Given the description of an element on the screen output the (x, y) to click on. 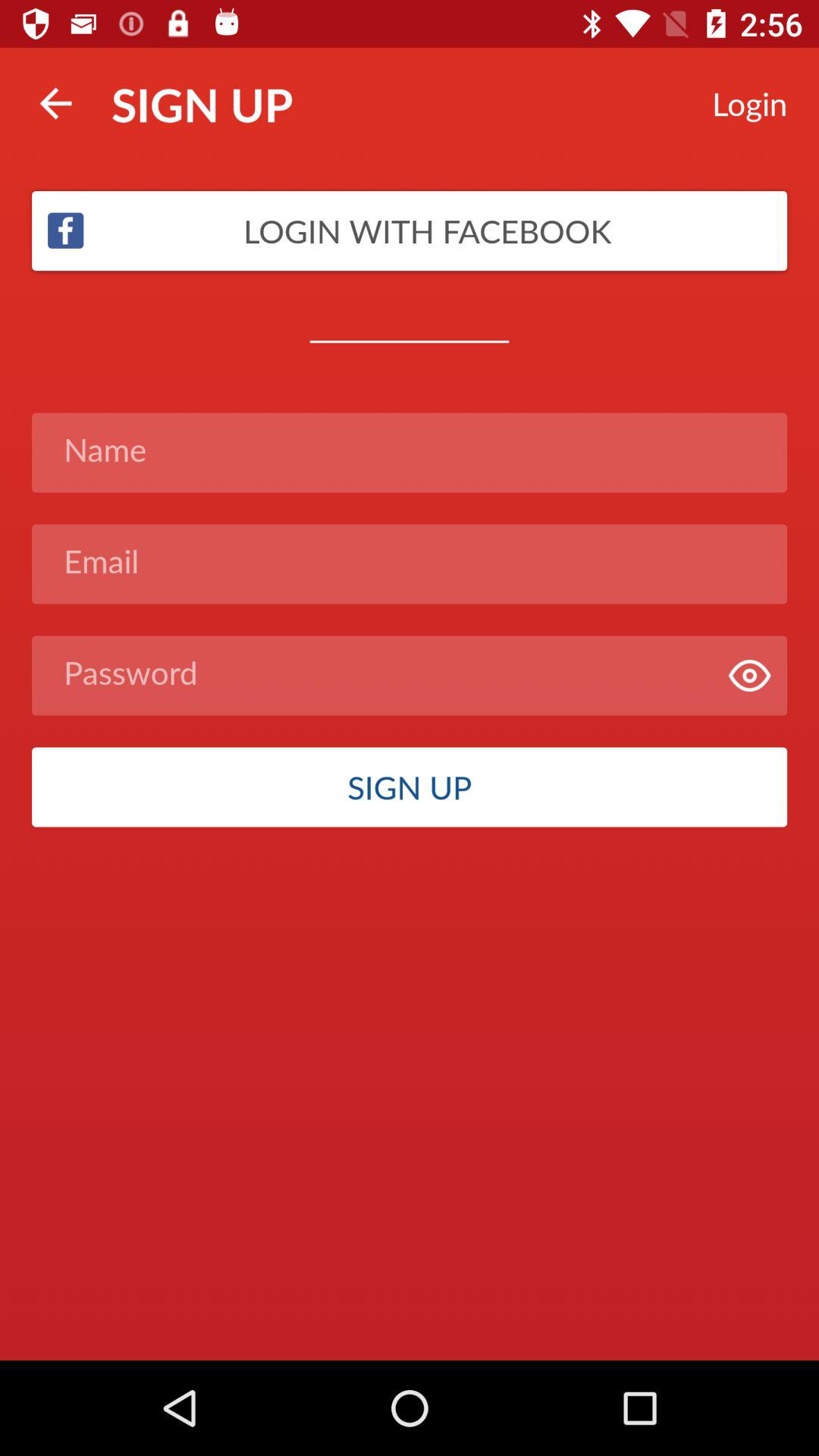
jump to login with facebook item (409, 230)
